Given the description of an element on the screen output the (x, y) to click on. 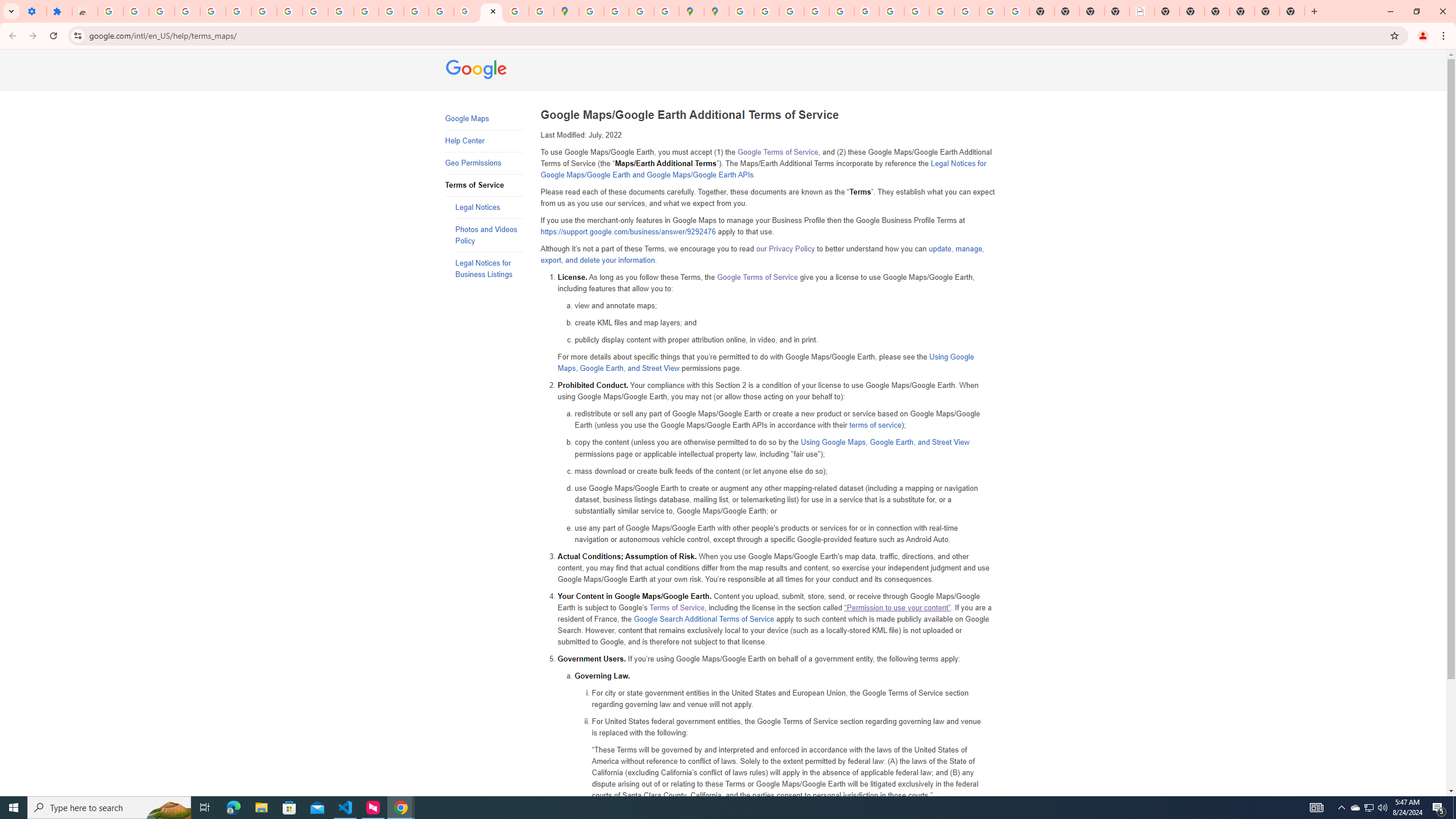
https://scholar.google.com/ (365, 11)
Geo Permissions (484, 162)
YouTube (891, 11)
New Tab (1292, 11)
